Given the description of an element on the screen output the (x, y) to click on. 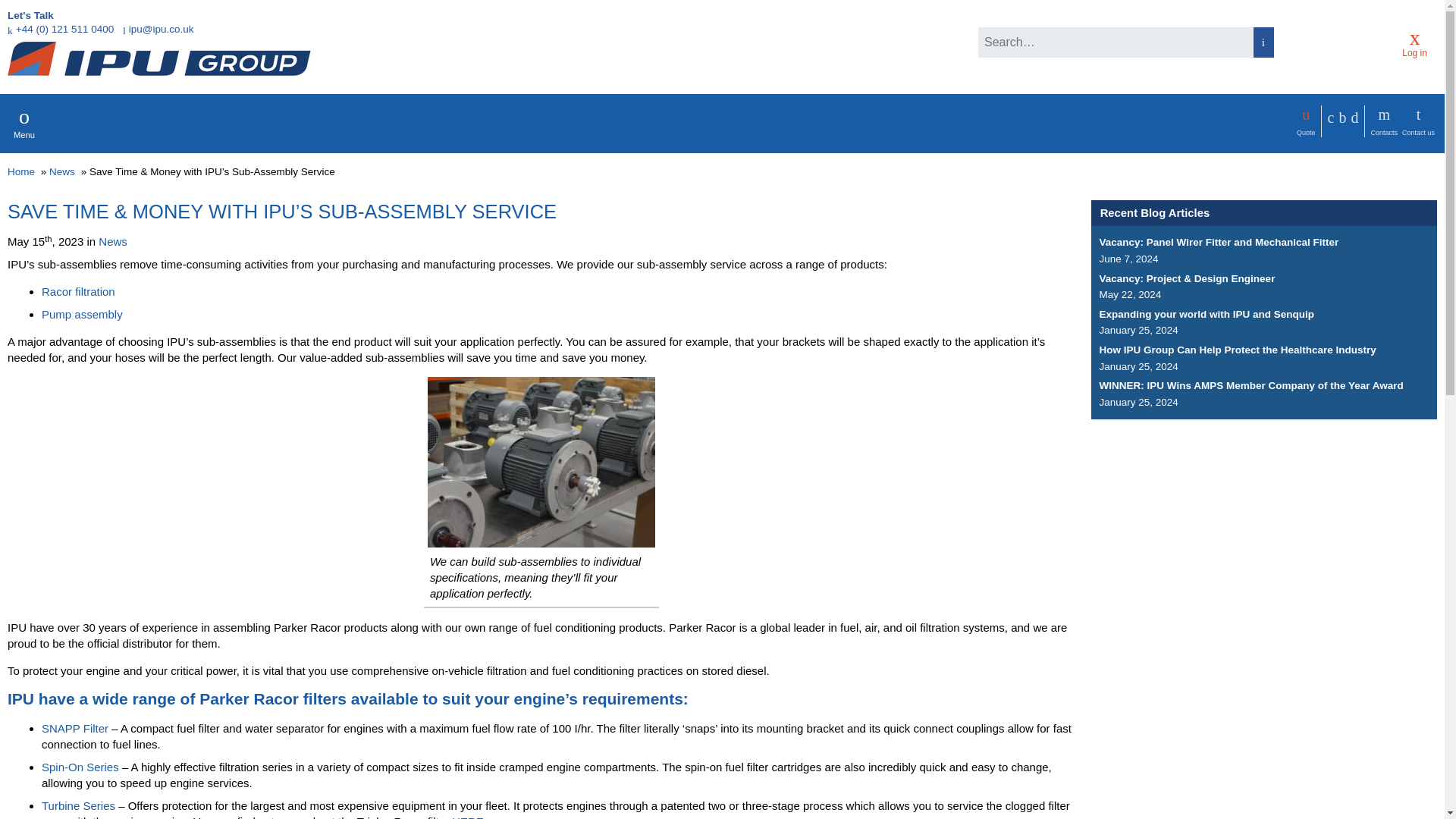
IPU Group (159, 58)
Contacts (1383, 121)
Contact us (1418, 121)
Contacts (1383, 121)
Contact us (1418, 121)
Email (157, 29)
Call us (60, 29)
Log in (1414, 42)
Menu (23, 122)
Menu (23, 122)
